Given the description of an element on the screen output the (x, y) to click on. 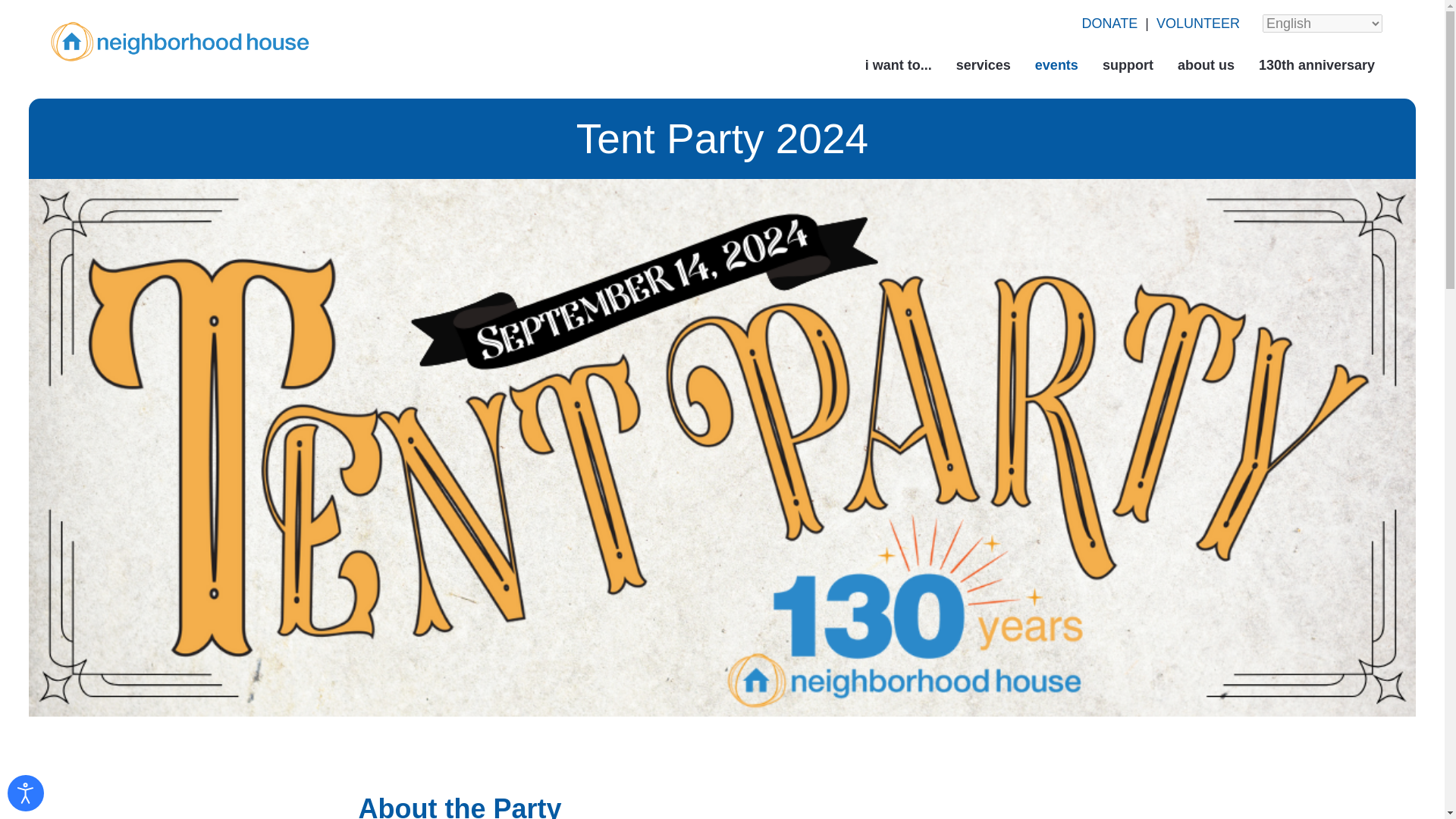
Open accessibility tools (25, 792)
